Given the description of an element on the screen output the (x, y) to click on. 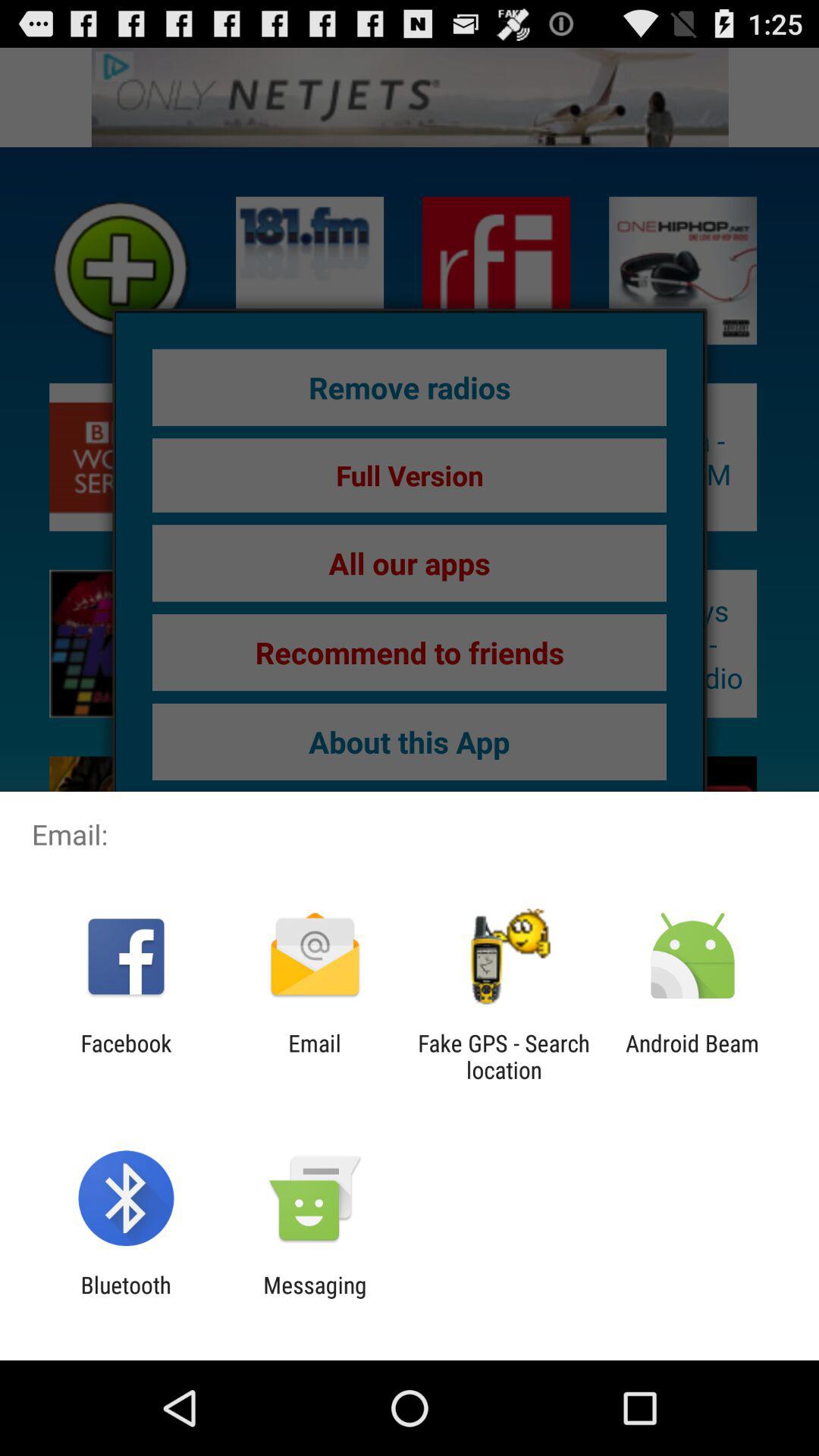
open the fake gps search icon (503, 1056)
